Given the description of an element on the screen output the (x, y) to click on. 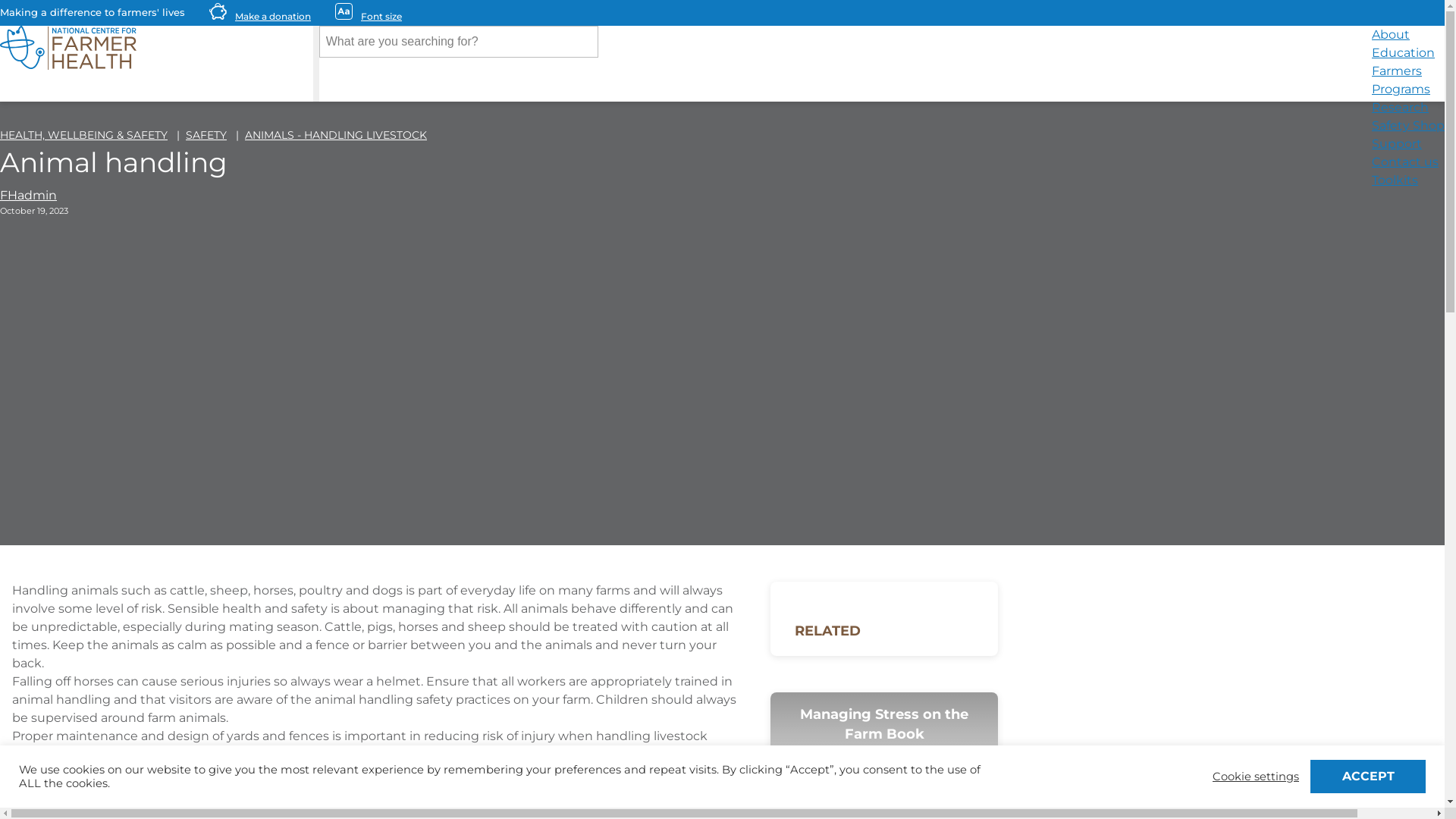
ACCEPT Element type: text (1367, 776)
Research Element type: text (1399, 109)
FHadmin Element type: text (28, 195)
ANIMALS - HANDLING LIVESTOCK Element type: text (335, 134)
Education Element type: text (1402, 54)
Safety Shop Element type: text (1407, 127)
Font size Element type: text (377, 15)
Programs Element type: text (1400, 90)
Cookie settings Element type: text (1255, 776)
Make a donation Element type: text (269, 15)
Contact us Element type: text (1404, 163)
READ BOOK Element type: text (883, 796)
Farmers Element type: text (1396, 72)
Support Element type: text (1396, 145)
HEALTH, WELLBEING & SAFETY Element type: text (83, 134)
About Element type: text (1390, 36)
Toolkits Element type: text (1394, 181)
SAFETY Element type: text (205, 134)
